Given the description of an element on the screen output the (x, y) to click on. 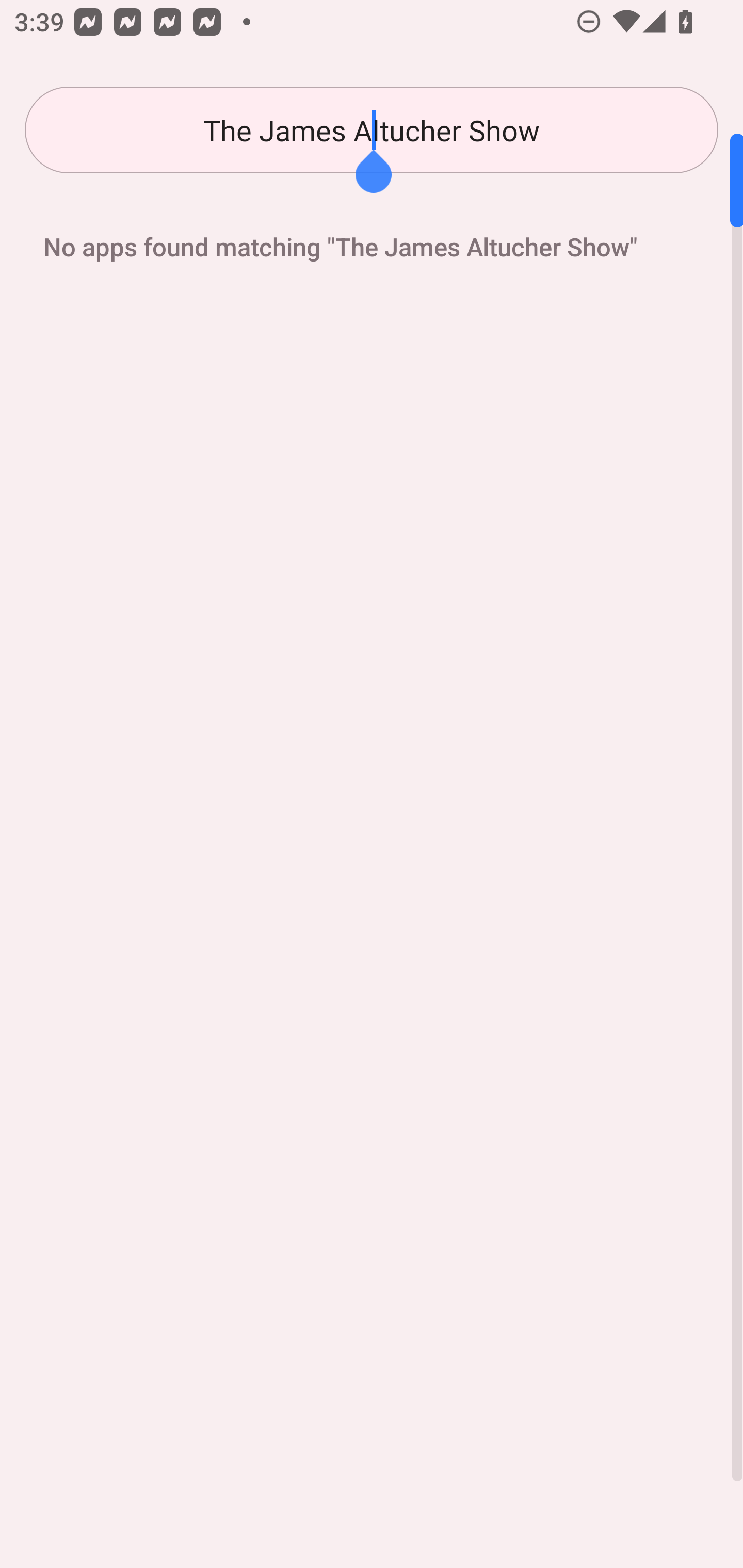
The James Altucher Show (371, 130)
